Given the description of an element on the screen output the (x, y) to click on. 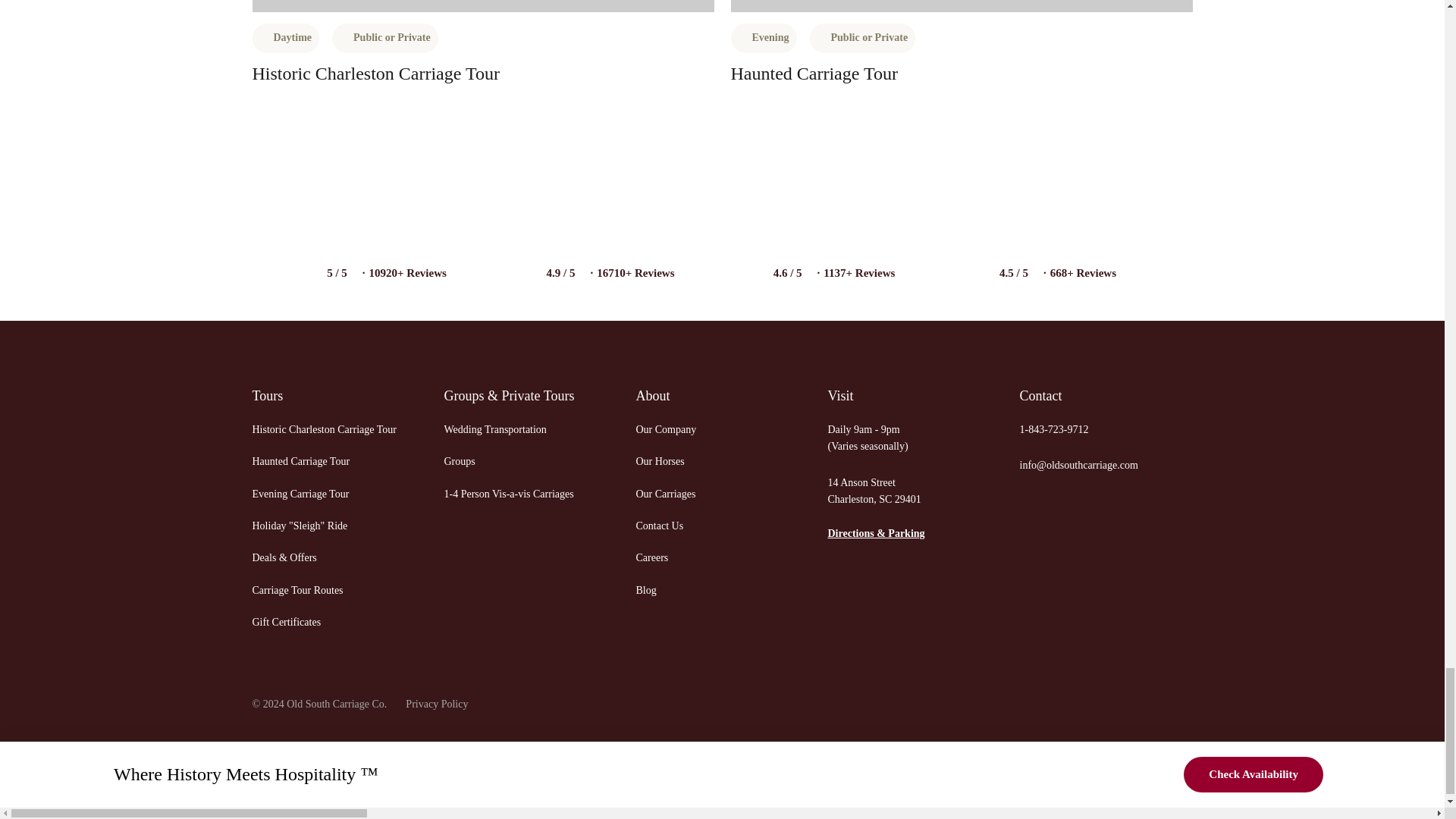
Historic Charleston Carriage Tour (375, 73)
Historic Charleston Carriage Tour (323, 422)
Haunted Carriage Tour (814, 73)
Popular! (961, 6)
Popular! (482, 6)
Haunted Carriage Tour (323, 454)
